Given the description of an element on the screen output the (x, y) to click on. 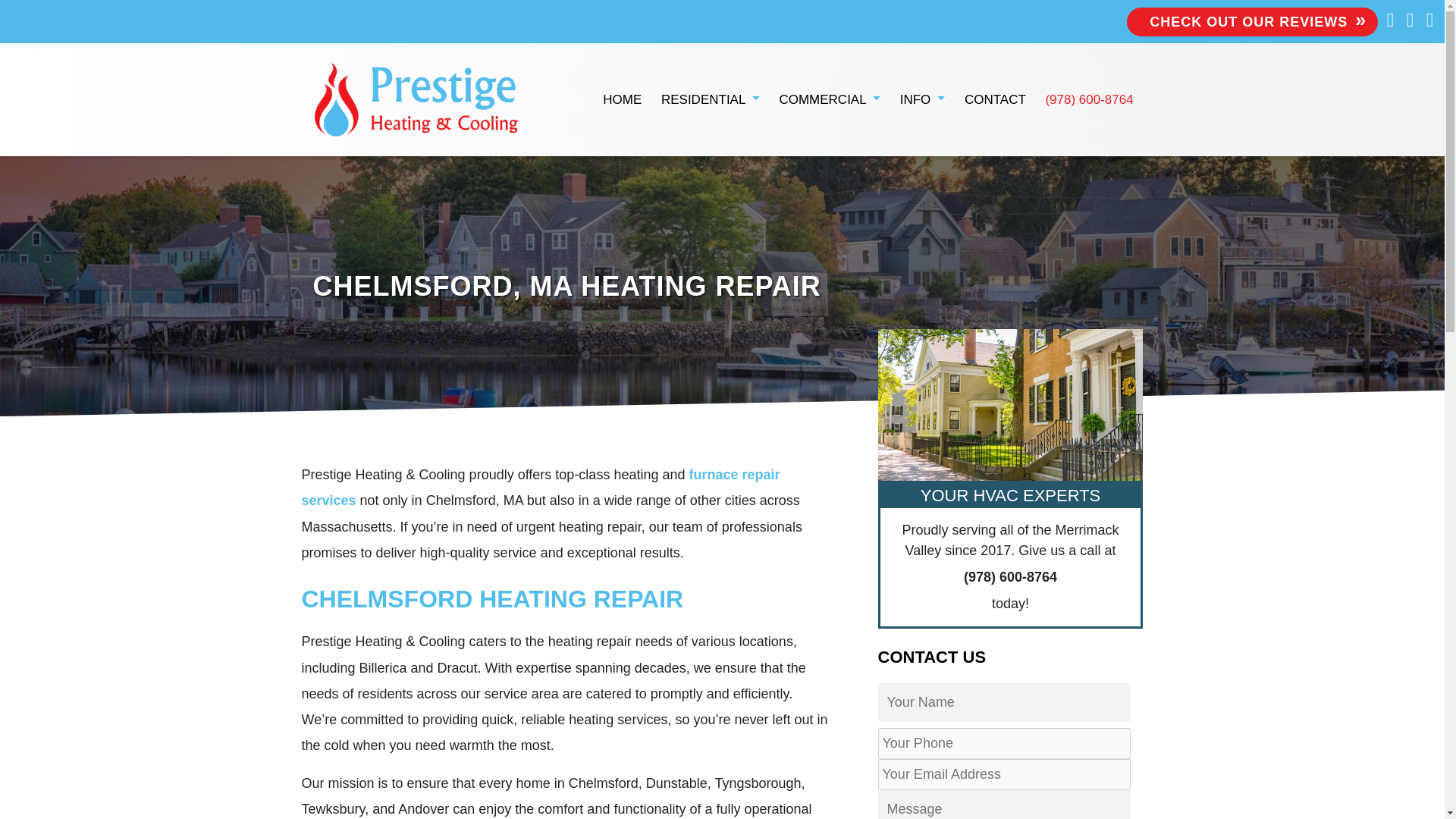
HOME (623, 100)
CONTACT (995, 100)
INFO (922, 100)
RESIDENTIAL (710, 100)
CHECK OUT OUR REVIEWS (1251, 21)
COMMERCIAL (829, 100)
